Given the description of an element on the screen output the (x, y) to click on. 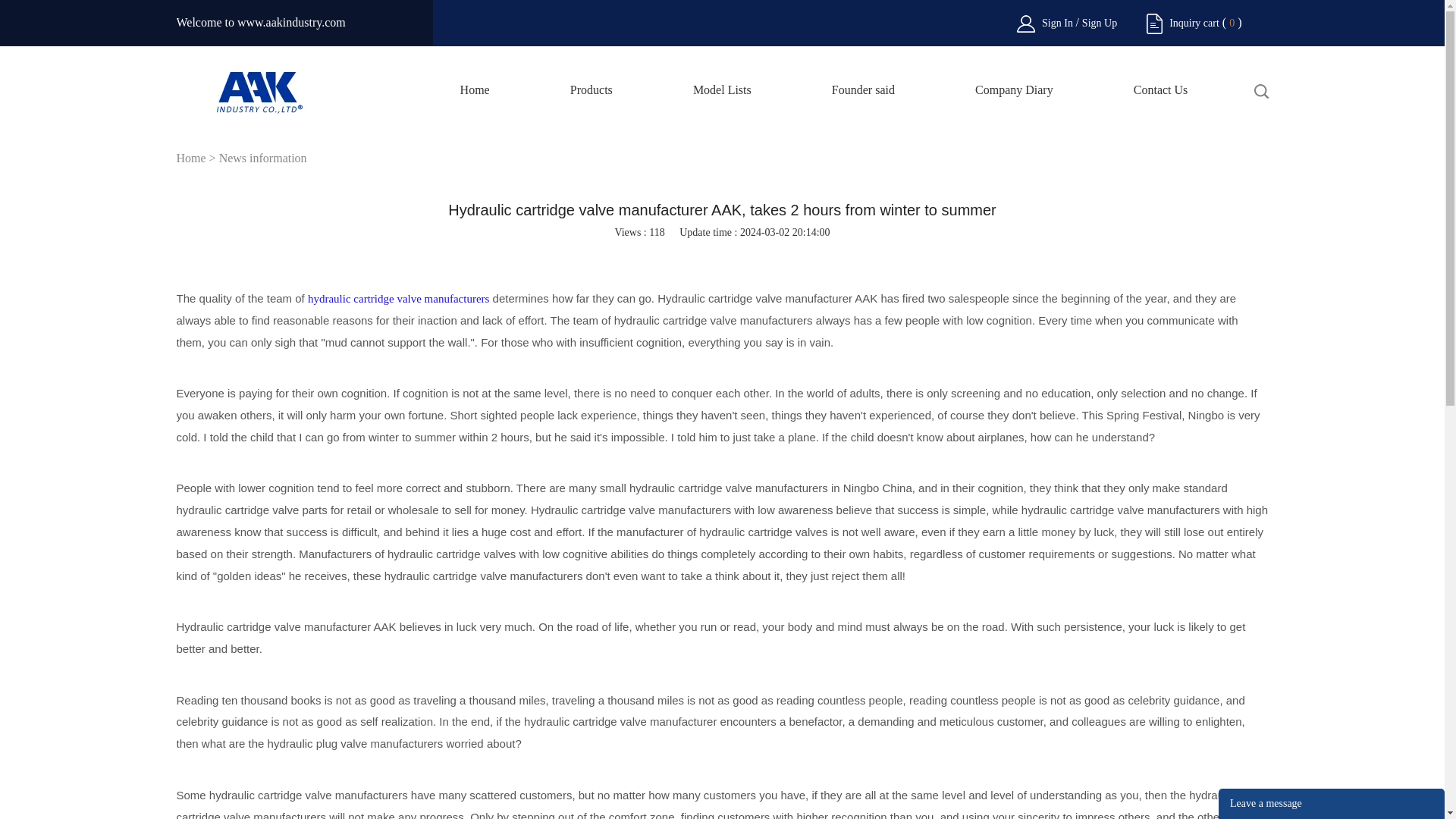
Founder said (863, 98)
Products (591, 98)
Model Lists (722, 98)
Home (474, 98)
